Given the description of an element on the screen output the (x, y) to click on. 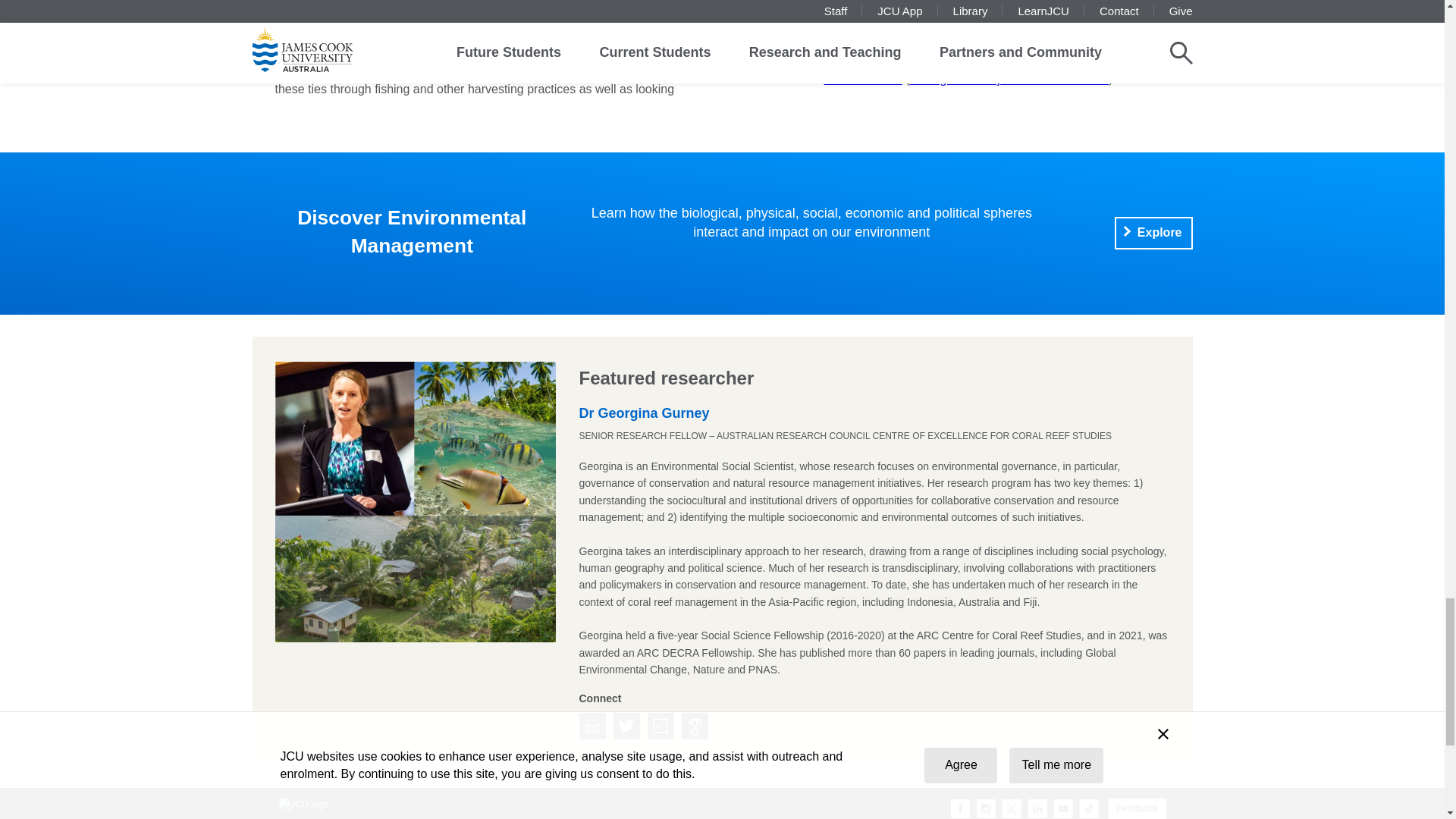
Go to JCU Instagram (985, 809)
Go to JCU Youtube (1062, 809)
Dr Georgina Gurney twitter (625, 725)
JCU feedback (1137, 808)
Go to JCU TikTok (1088, 809)
Dr Georgina Gurney research gate (660, 725)
Dr Georgina Gurney google scholar page (694, 725)
Go to JCU LinkedIn (1036, 809)
Go to JCU Facebook (959, 809)
Go to JCU Twitter (1011, 809)
